Given the description of an element on the screen output the (x, y) to click on. 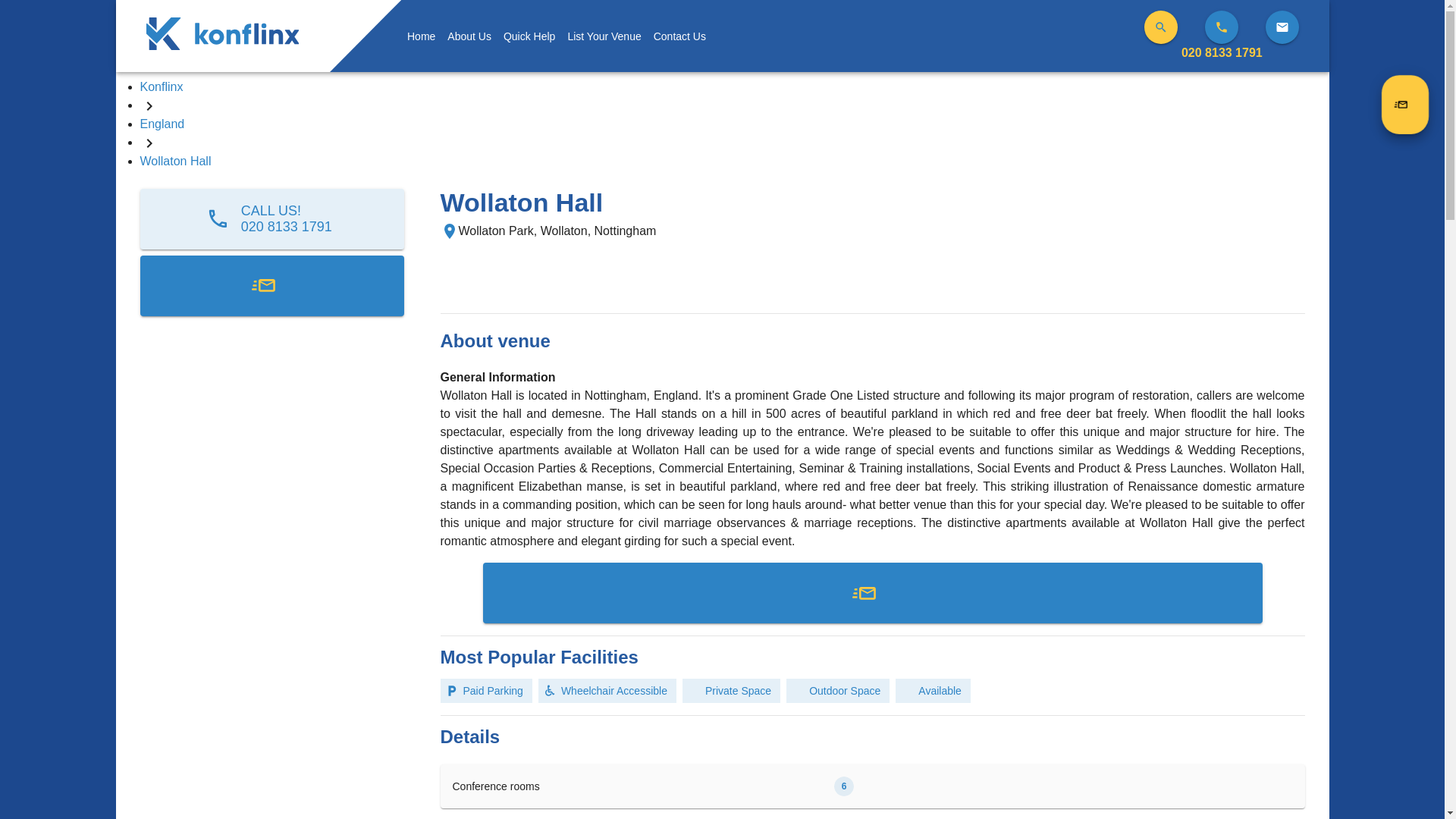
Quick Help (528, 36)
Home (421, 36)
Wollaton Hall (175, 160)
About Us (469, 36)
Contact Us (679, 36)
List Your Venue (603, 36)
020 8133 1791 (1221, 51)
Contact us (679, 36)
About us (271, 219)
